Given the description of an element on the screen output the (x, y) to click on. 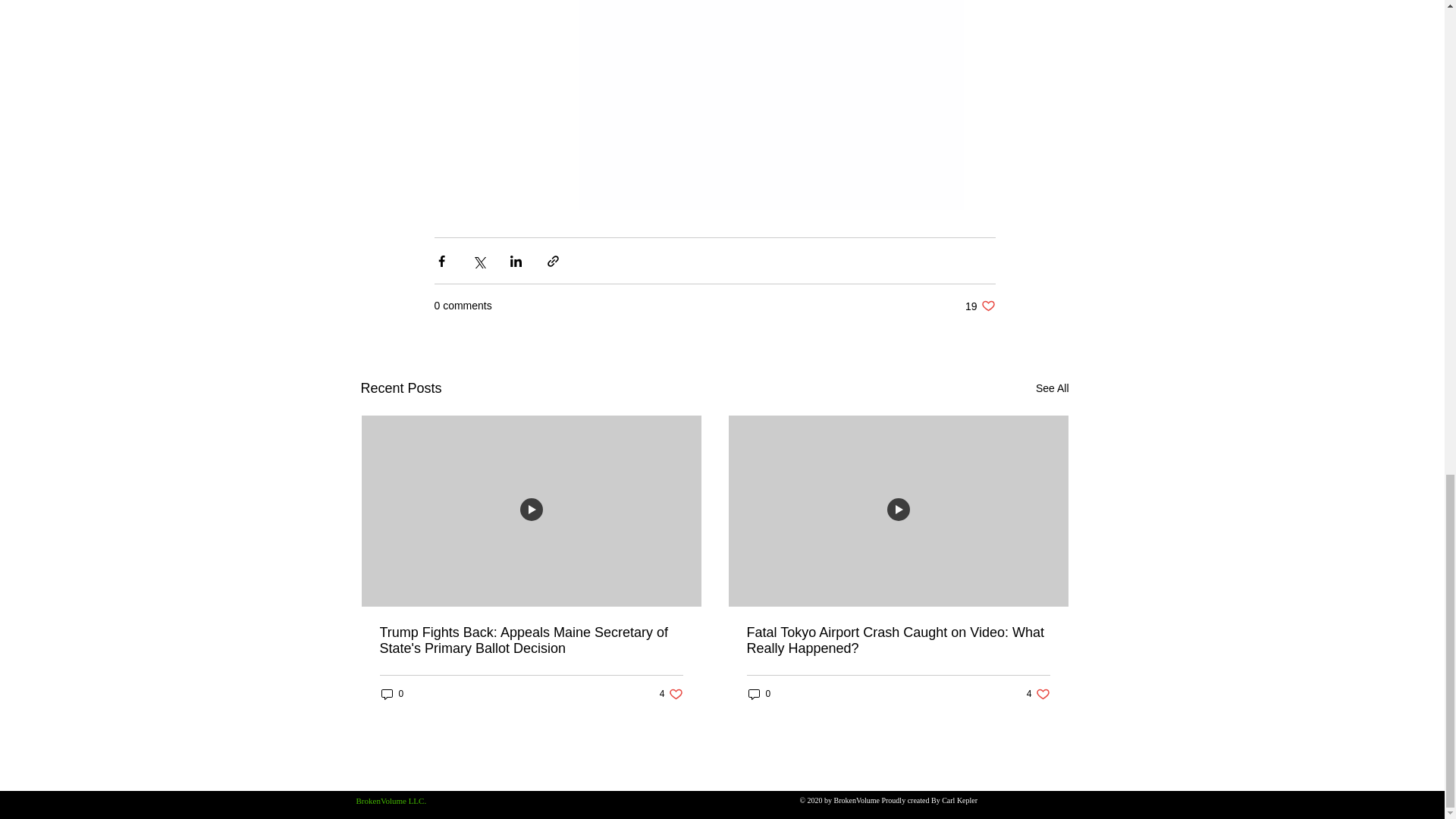
See All (670, 694)
0 (1037, 694)
BrokenVolume LLC. (980, 305)
0 (1051, 388)
